Given the description of an element on the screen output the (x, y) to click on. 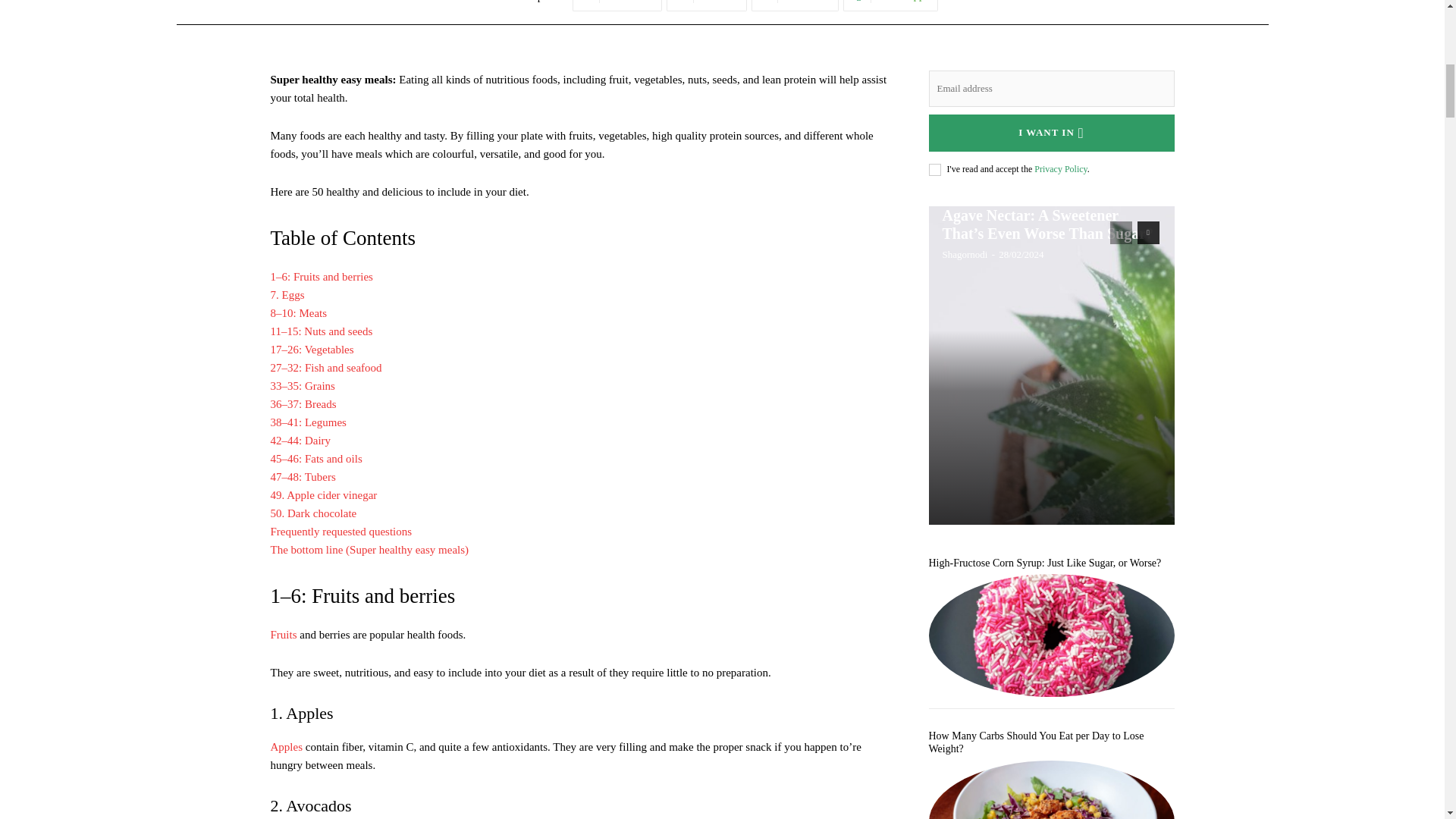
Twitter (706, 5)
Facebook (617, 5)
Twitter (706, 5)
Facebook (617, 5)
High-Fructose Corn Syrup: Just Like Sugar, or Worse? (1044, 562)
WhatsApp (890, 5)
Pinterest (794, 5)
WhatsApp (890, 5)
High-Fructose Corn Syrup: Just Like Sugar, or Worse? (1050, 635)
Pinterest (794, 5)
